Given the description of an element on the screen output the (x, y) to click on. 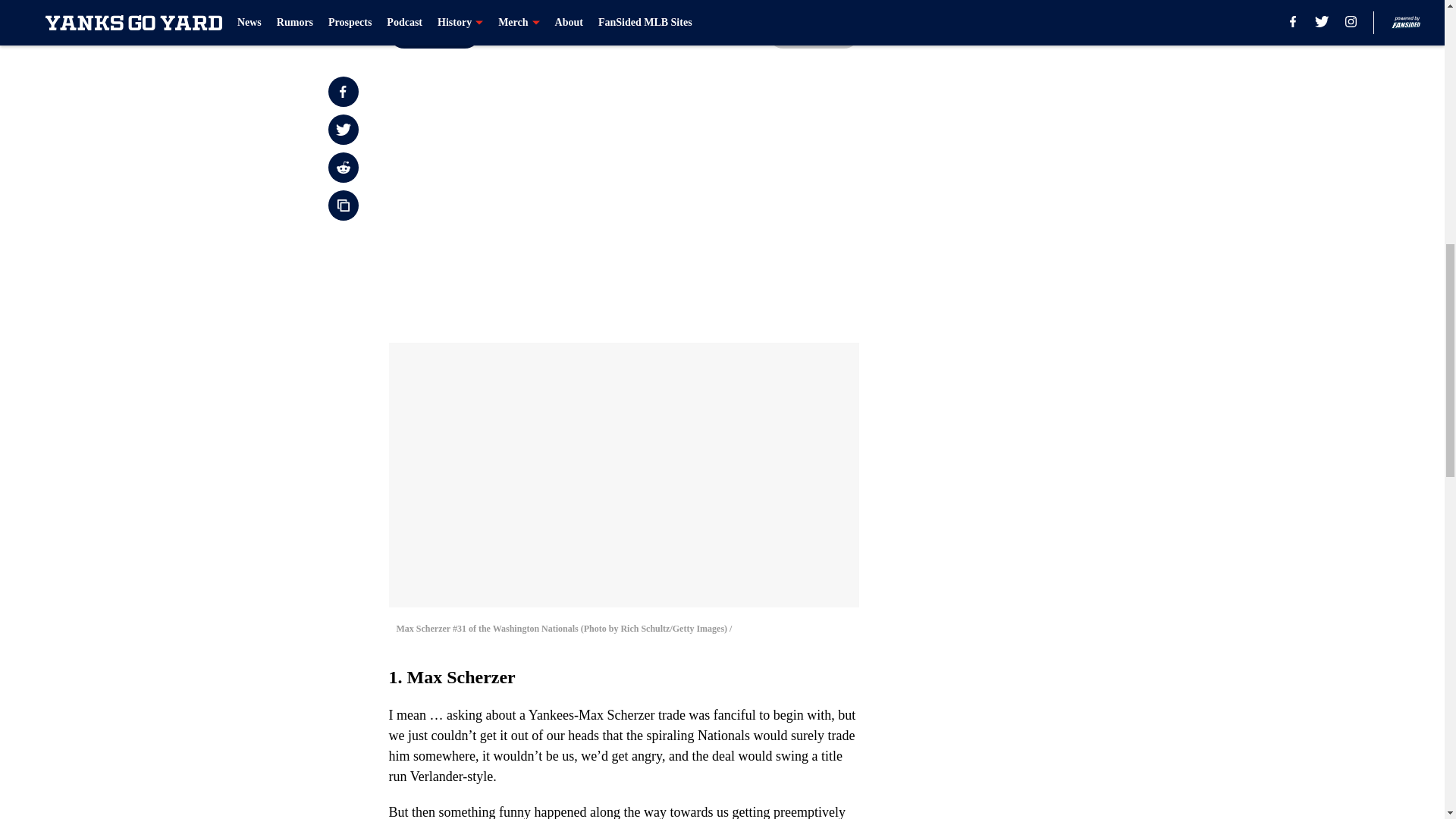
Next (813, 33)
Prev (433, 33)
